Given the description of an element on the screen output the (x, y) to click on. 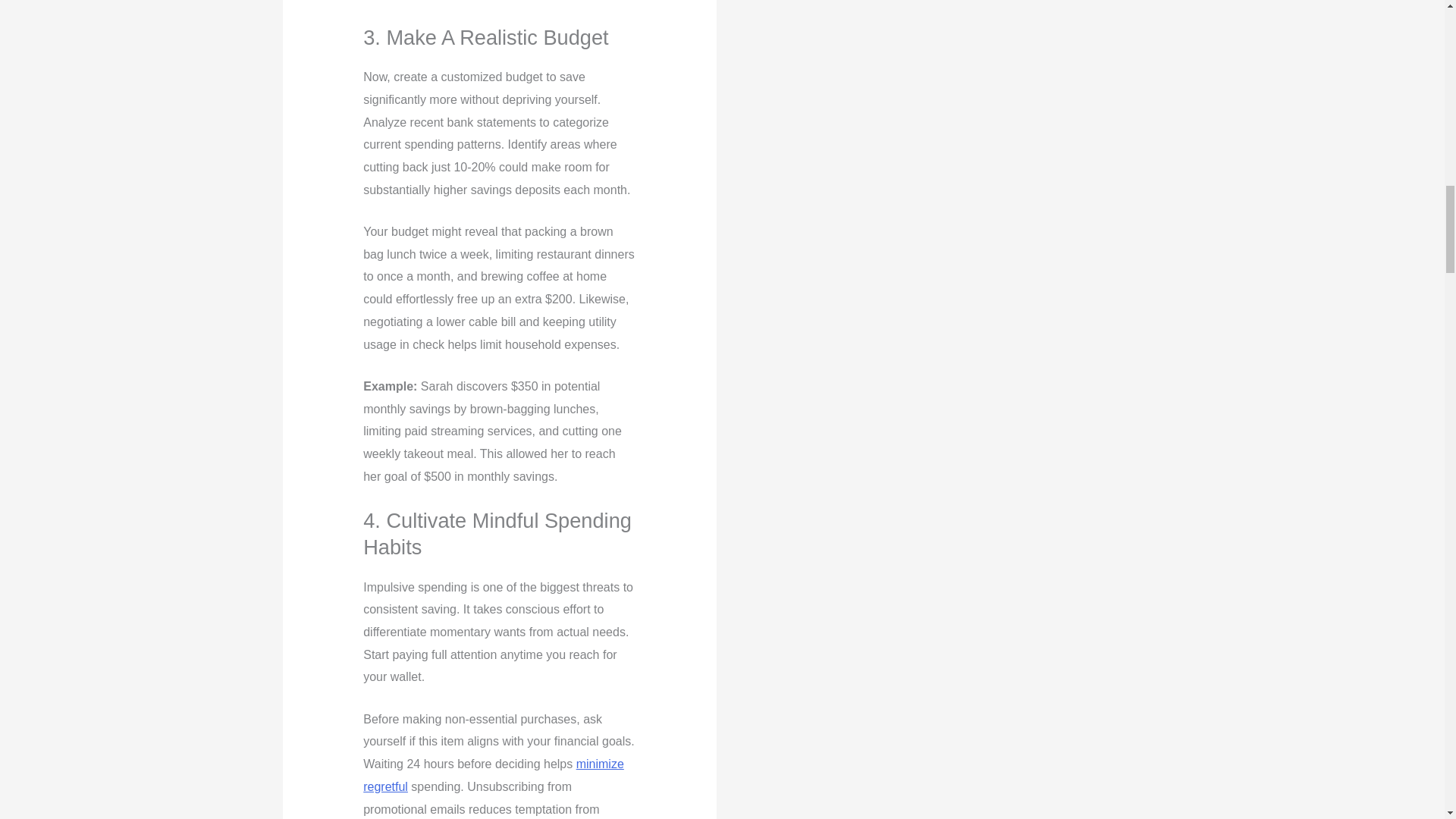
minimize regretful (493, 775)
